Given the description of an element on the screen output the (x, y) to click on. 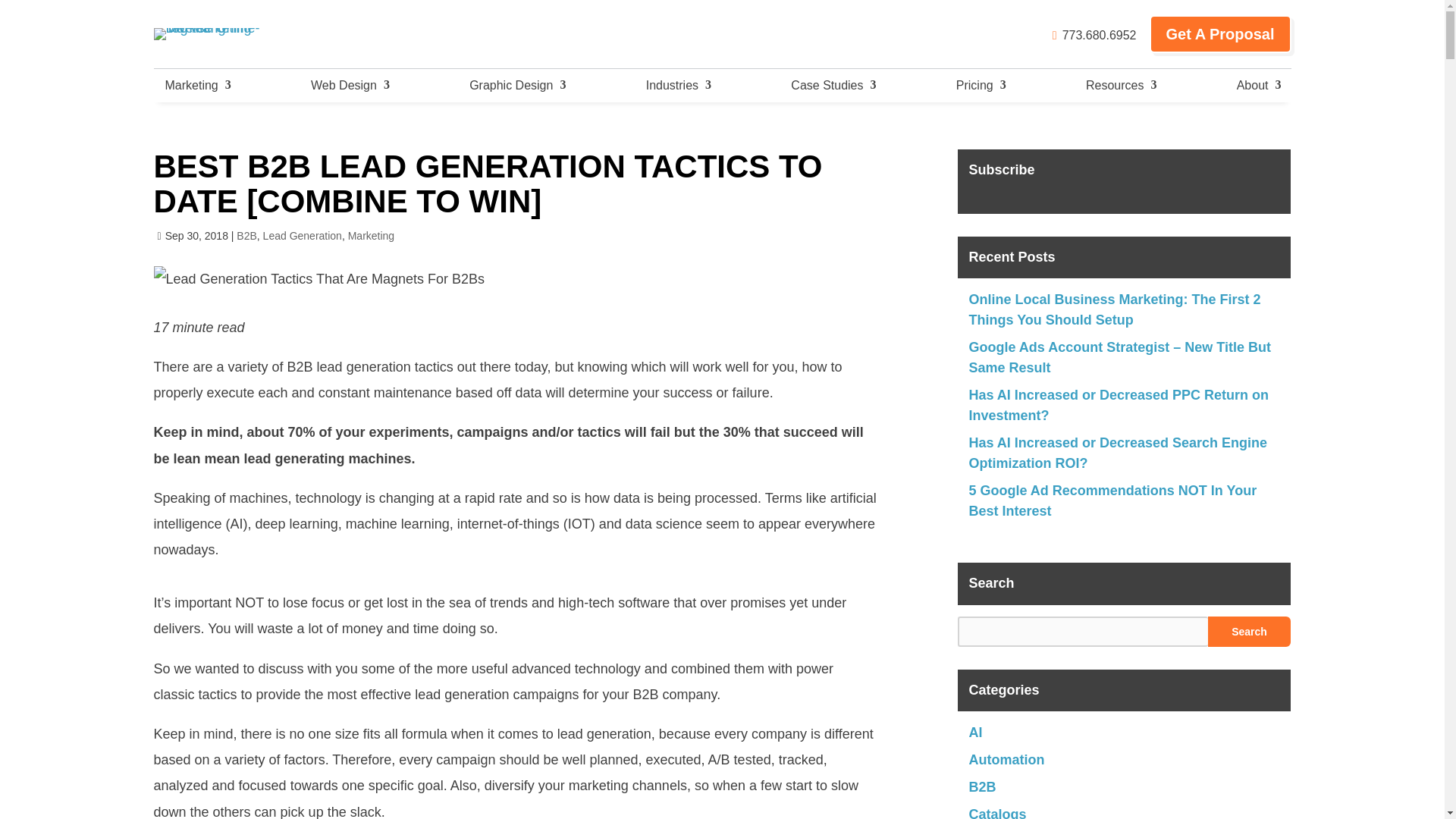
Web Design (349, 85)
773.680.6952 (1094, 34)
Get A Proposal (1220, 34)
Marketing (196, 85)
Tag Marketing - Diverse Online Marketing (228, 33)
contact (1094, 34)
